Given the description of an element on the screen output the (x, y) to click on. 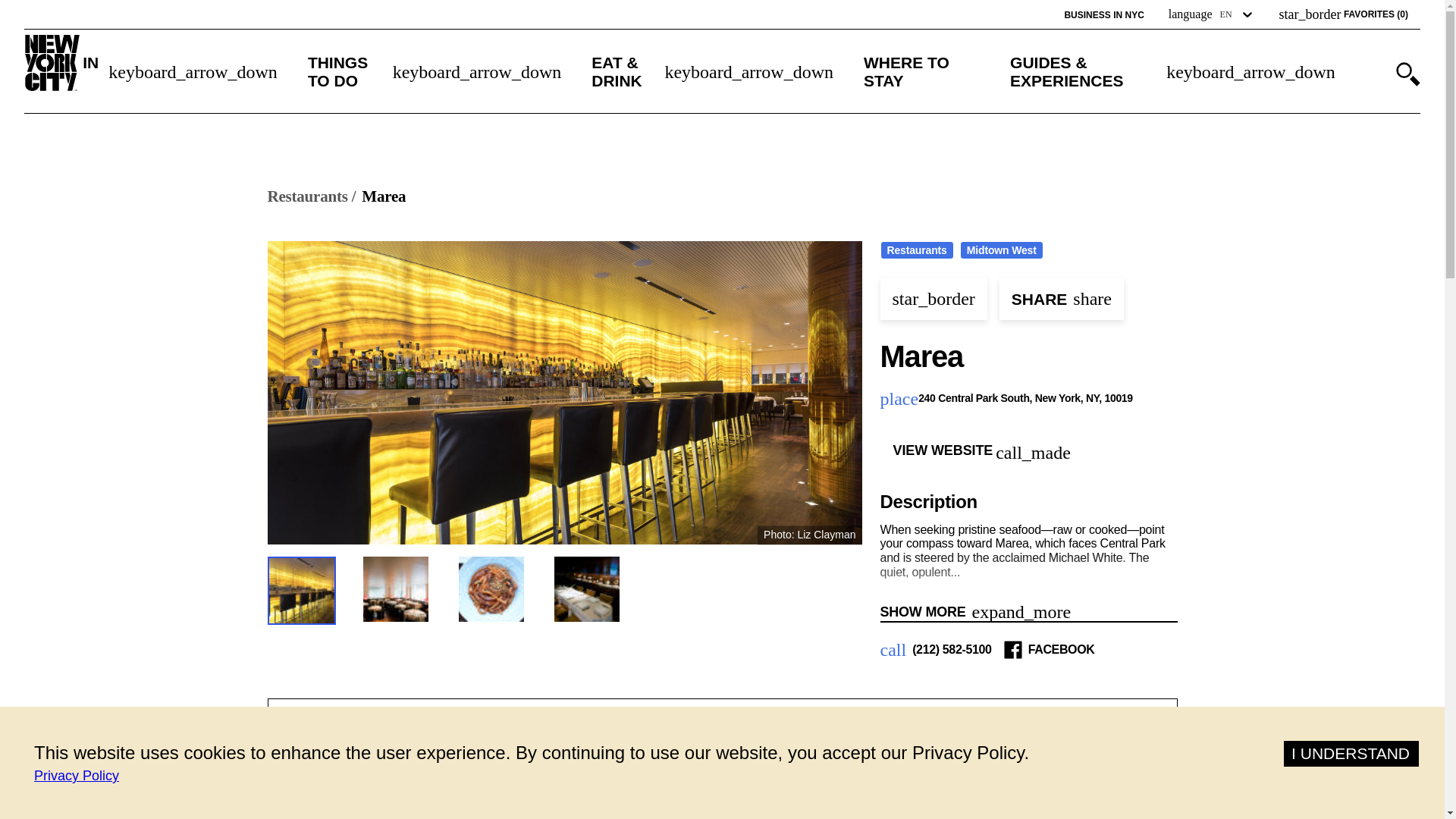
VISIT WEBSITE (793, 811)
FACEBOOK (1060, 649)
Skip to main content (78, 11)
BUSINESS IN NYC (1103, 14)
240 Central Park South, New York, NY, 10019 (1026, 398)
Marea (383, 196)
